Given the description of an element on the screen output the (x, y) to click on. 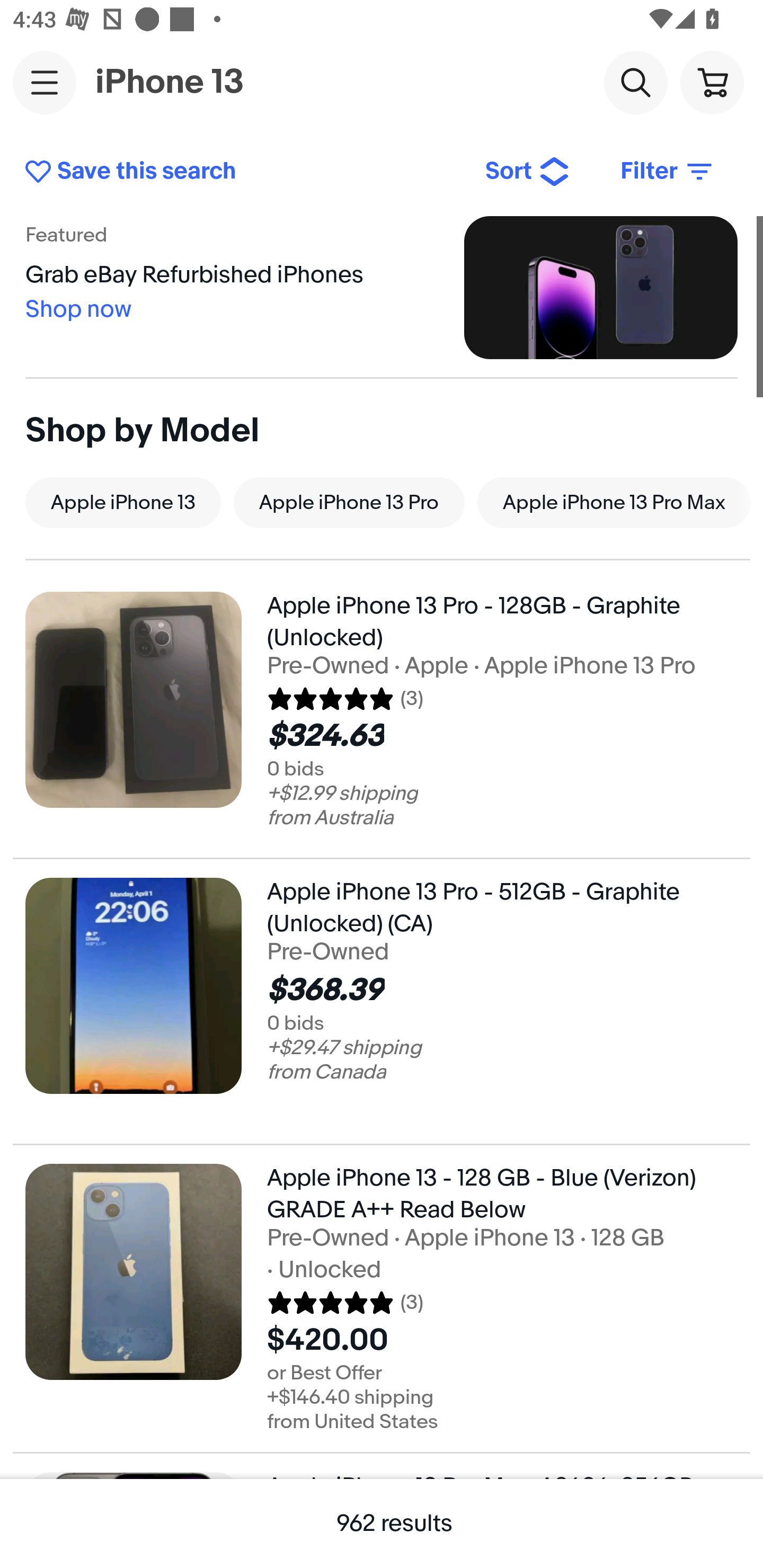
Main navigation, open (44, 82)
Search (635, 81)
Cart button shopping cart (711, 81)
Save this search (241, 171)
Sort (527, 171)
Filter (667, 171)
Featured Grab eBay Refurbished iPhones Shop now (381, 287)
Apple iPhone 13 Apple iPhone 13, Model (123, 502)
Apple iPhone 13 Pro Apple iPhone 13 Pro, Model (348, 502)
